Given the description of an element on the screen output the (x, y) to click on. 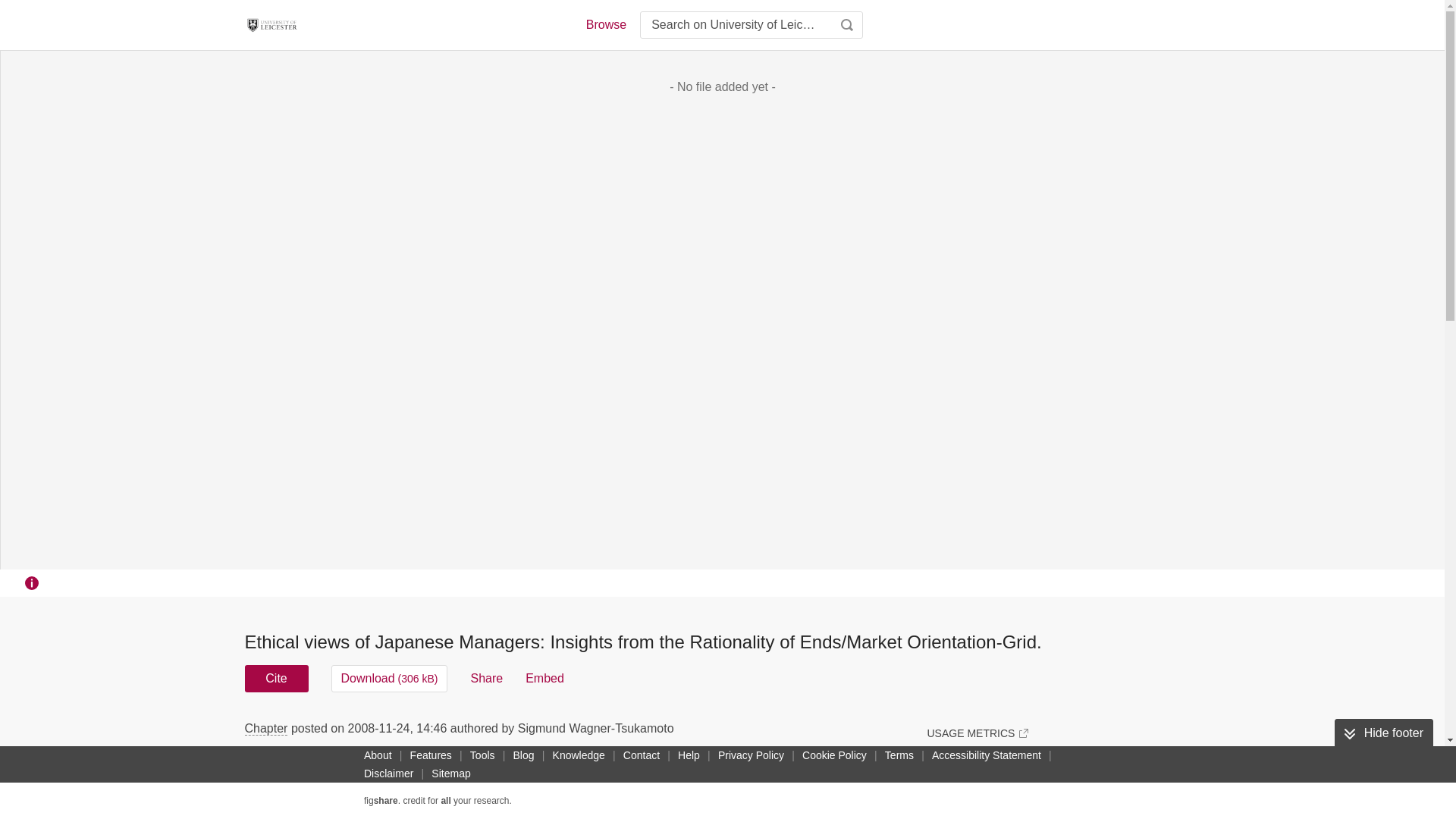
Embed (544, 678)
Features (431, 755)
About (377, 755)
Knowledge (579, 755)
Share (486, 678)
Browse (605, 24)
Hide footer (1383, 733)
Cite (275, 678)
Privacy Policy (751, 755)
Tools (482, 755)
Cookie Policy (833, 755)
Disclaimer (388, 773)
Terms (899, 755)
Accessibility Statement (986, 755)
Sitemap (450, 773)
